Given the description of an element on the screen output the (x, y) to click on. 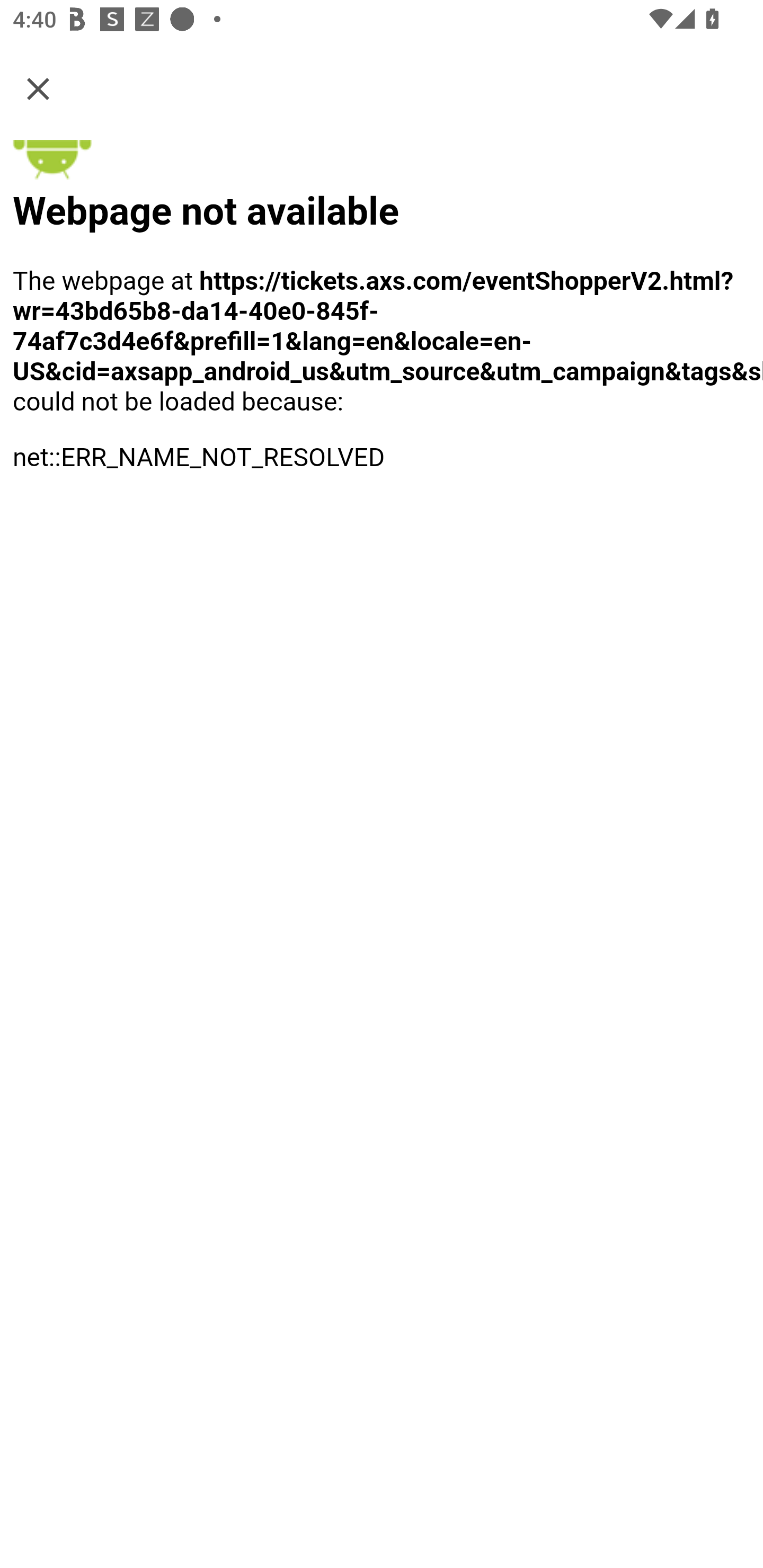
Close (38, 88)
